Given the description of an element on the screen output the (x, y) to click on. 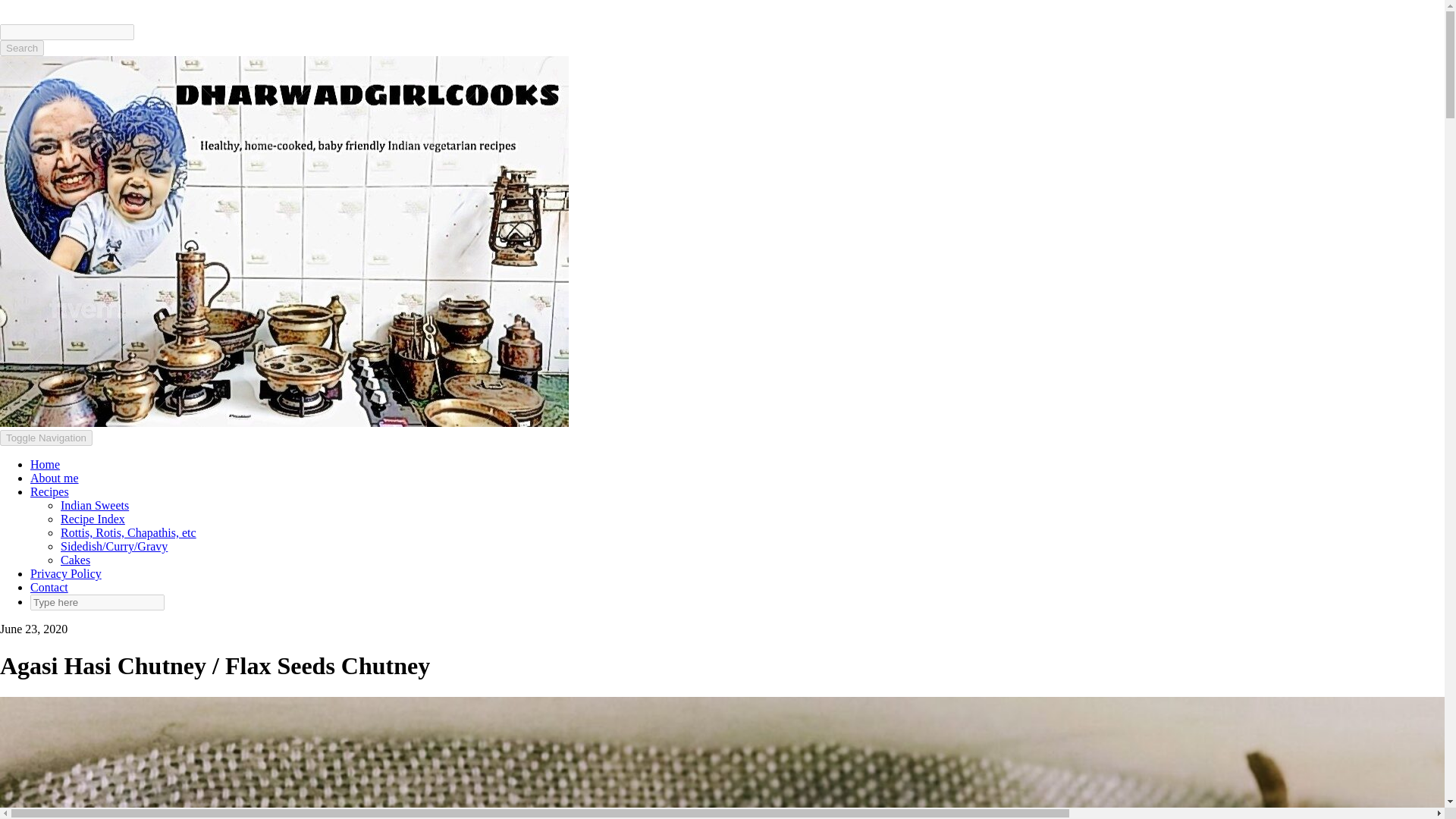
Toggle Navigation (46, 437)
Facebook (10, 6)
Rottis, Rotis, Chapathis, etc (128, 532)
Recipe Index (93, 518)
Instagram (31, 6)
Instagram (31, 6)
Recipes (49, 491)
Search (21, 48)
Home (44, 463)
Privacy Policy (65, 573)
